Given the description of an element on the screen output the (x, y) to click on. 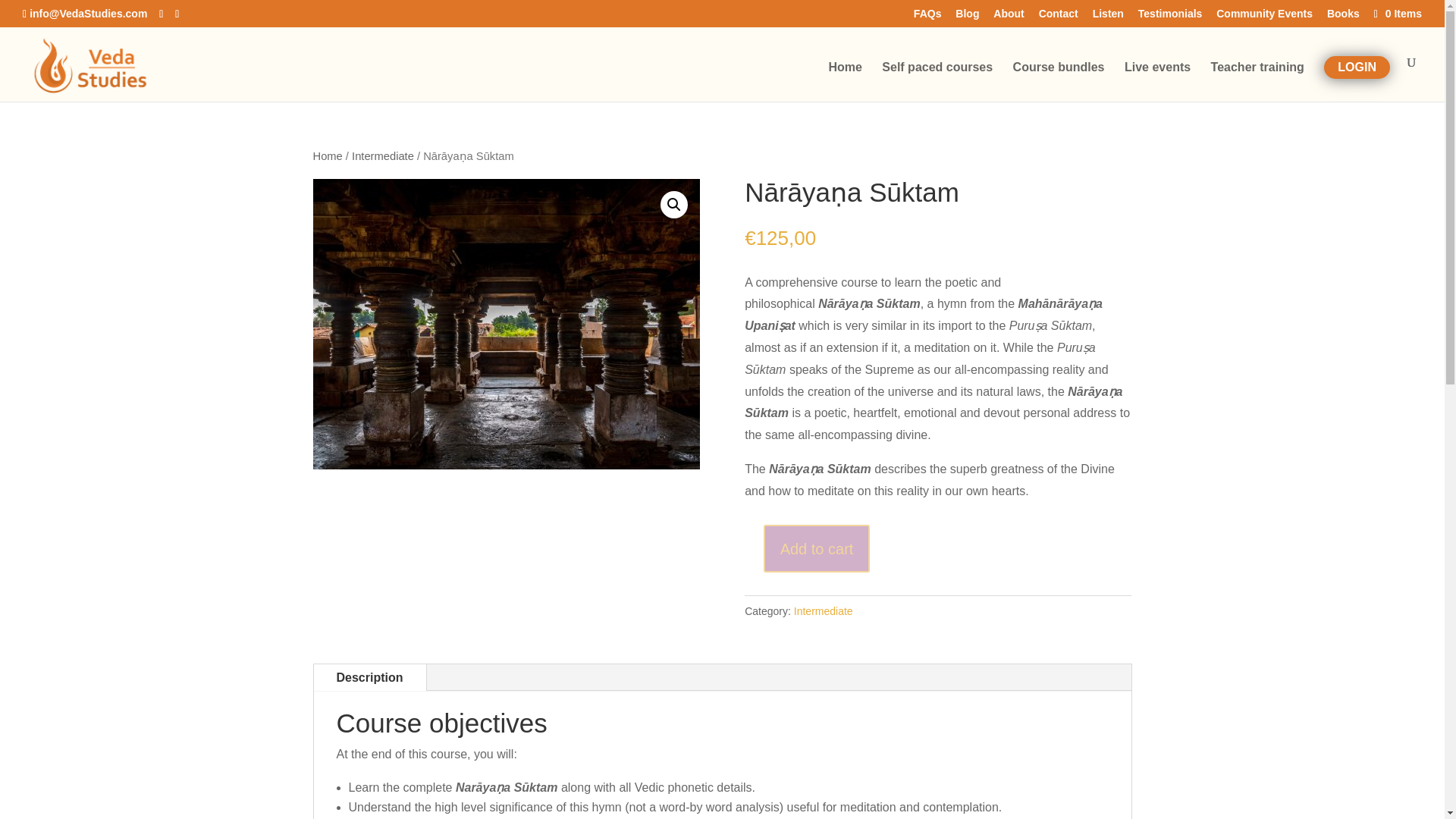
Add to cart (816, 548)
Books (1342, 16)
Course bundles (1059, 81)
Home (327, 155)
Listen (1108, 16)
Testimonials (1170, 16)
LOGIN (1356, 67)
Self paced courses (937, 81)
0 Items (1396, 13)
About (1007, 16)
Live events (1157, 81)
Teacher training (1257, 81)
FAQs (928, 16)
Contact (1058, 16)
Blog (966, 16)
